Given the description of an element on the screen output the (x, y) to click on. 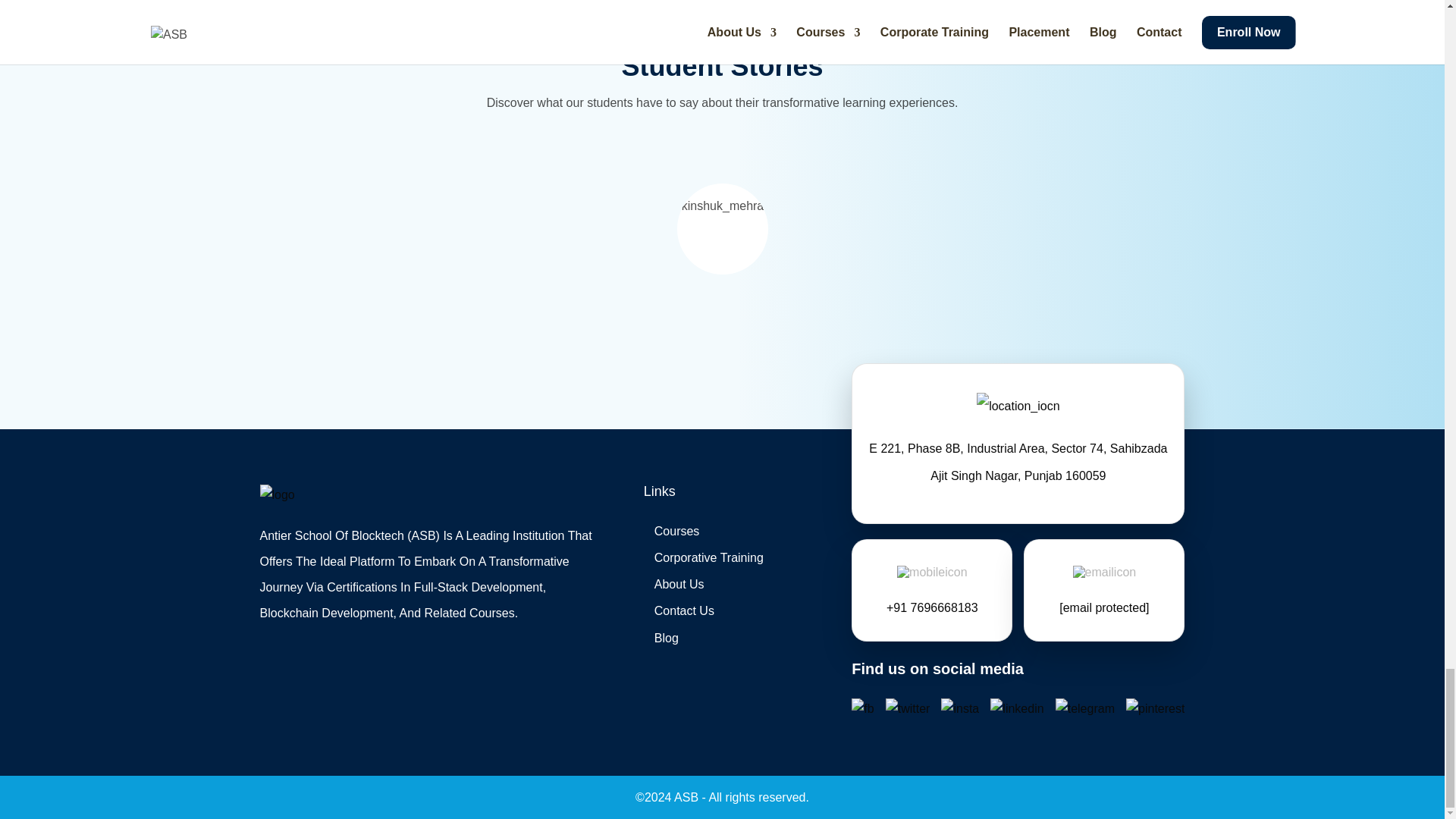
Blog (665, 637)
About Us (678, 584)
Courses (676, 530)
Contact Us (683, 610)
Corporative Training (707, 557)
